Given the description of an element on the screen output the (x, y) to click on. 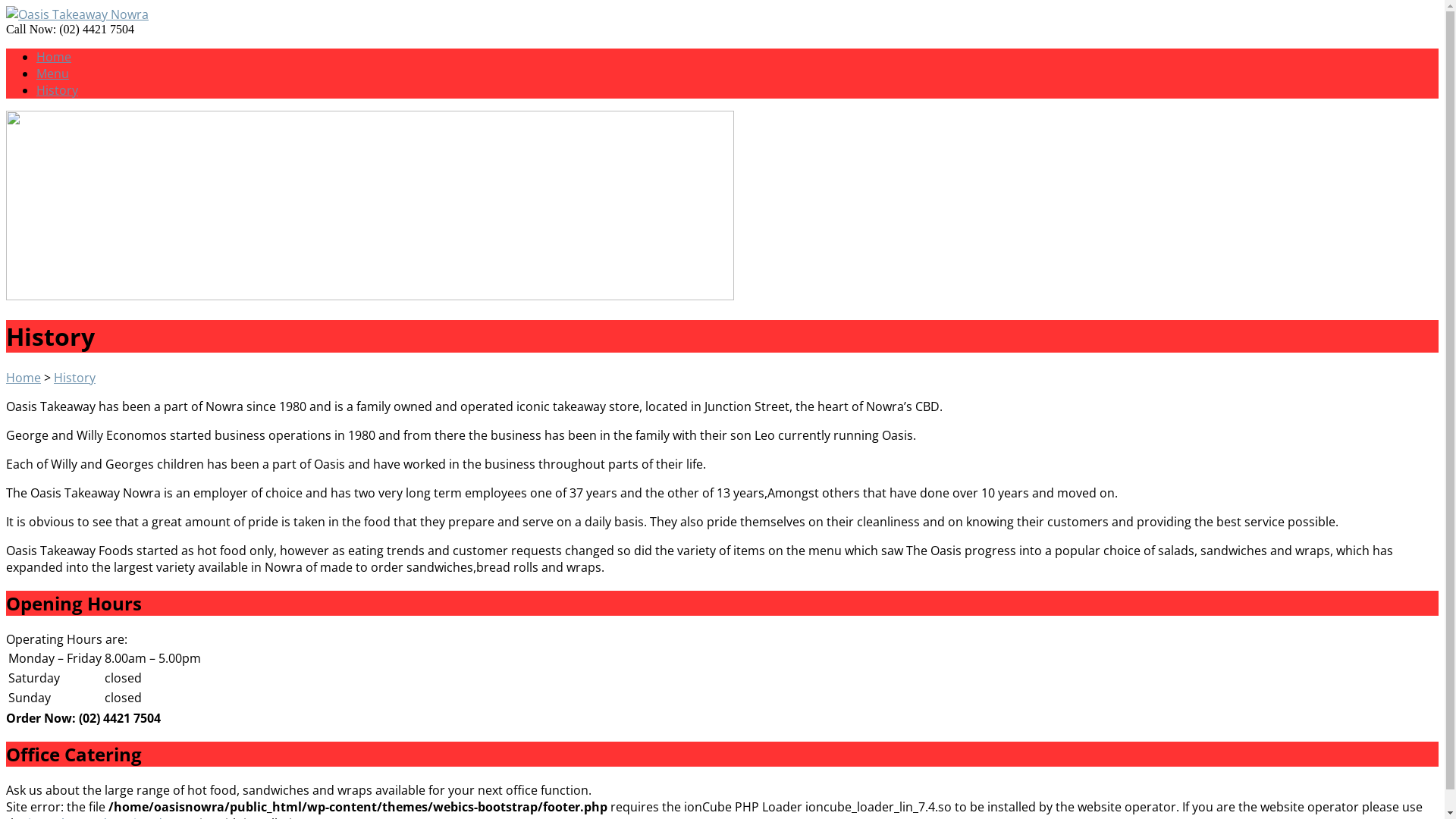
Home Element type: text (23, 377)
History Element type: text (57, 89)
Home Element type: text (53, 56)
Menu Element type: text (52, 73)
History Element type: text (74, 377)
